Given the description of an element on the screen output the (x, y) to click on. 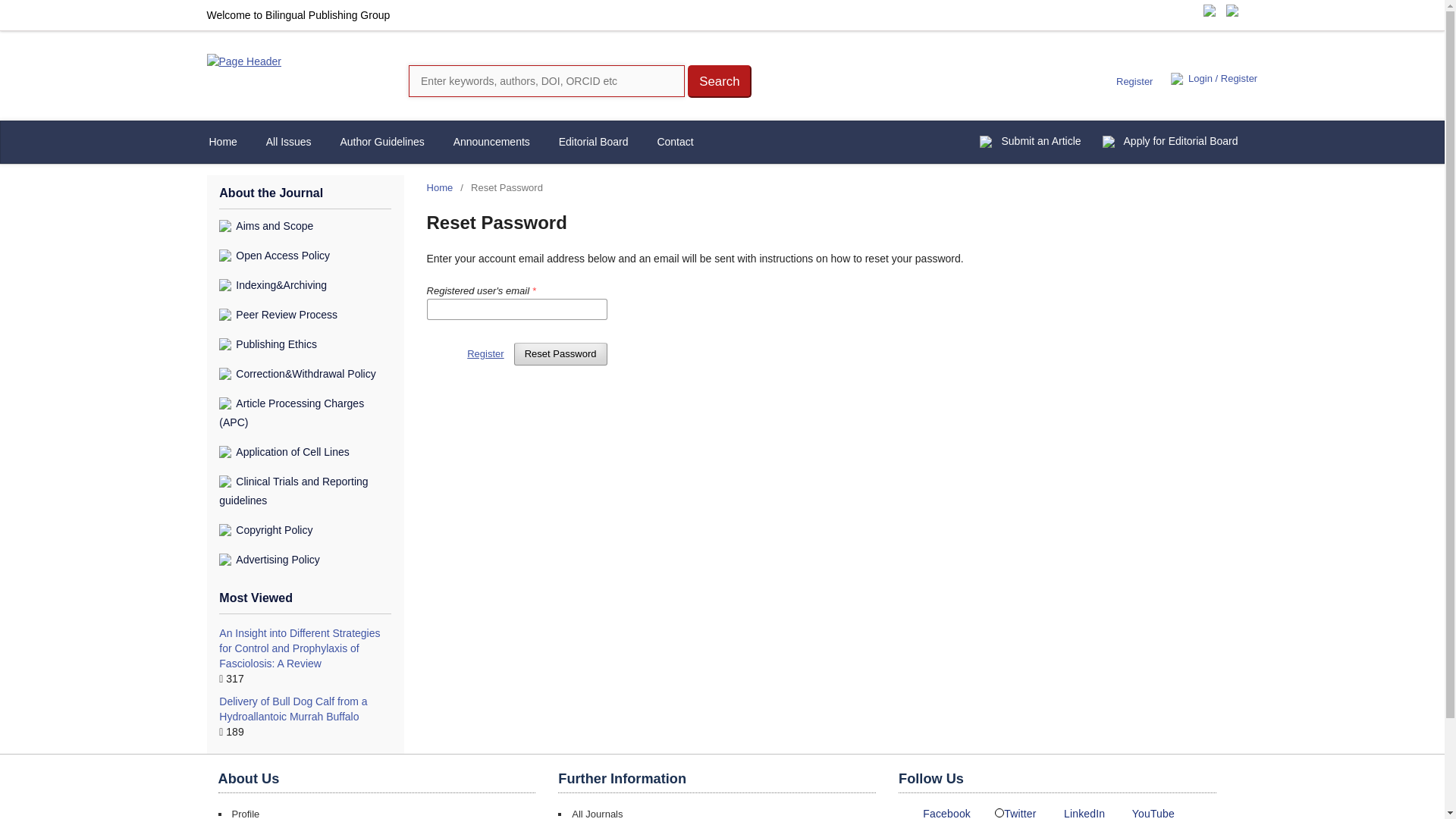
Register (1134, 81)
Search (719, 81)
Clinical Trials and Reporting guidelines (293, 490)
Register (485, 354)
Search (719, 81)
Home (439, 187)
Copyright Policy (266, 530)
Peer Review Process (278, 314)
Publishing Ethics (268, 344)
Search (719, 81)
Announcements (491, 142)
All Issues (288, 142)
Reset Password (560, 354)
